Given the description of an element on the screen output the (x, y) to click on. 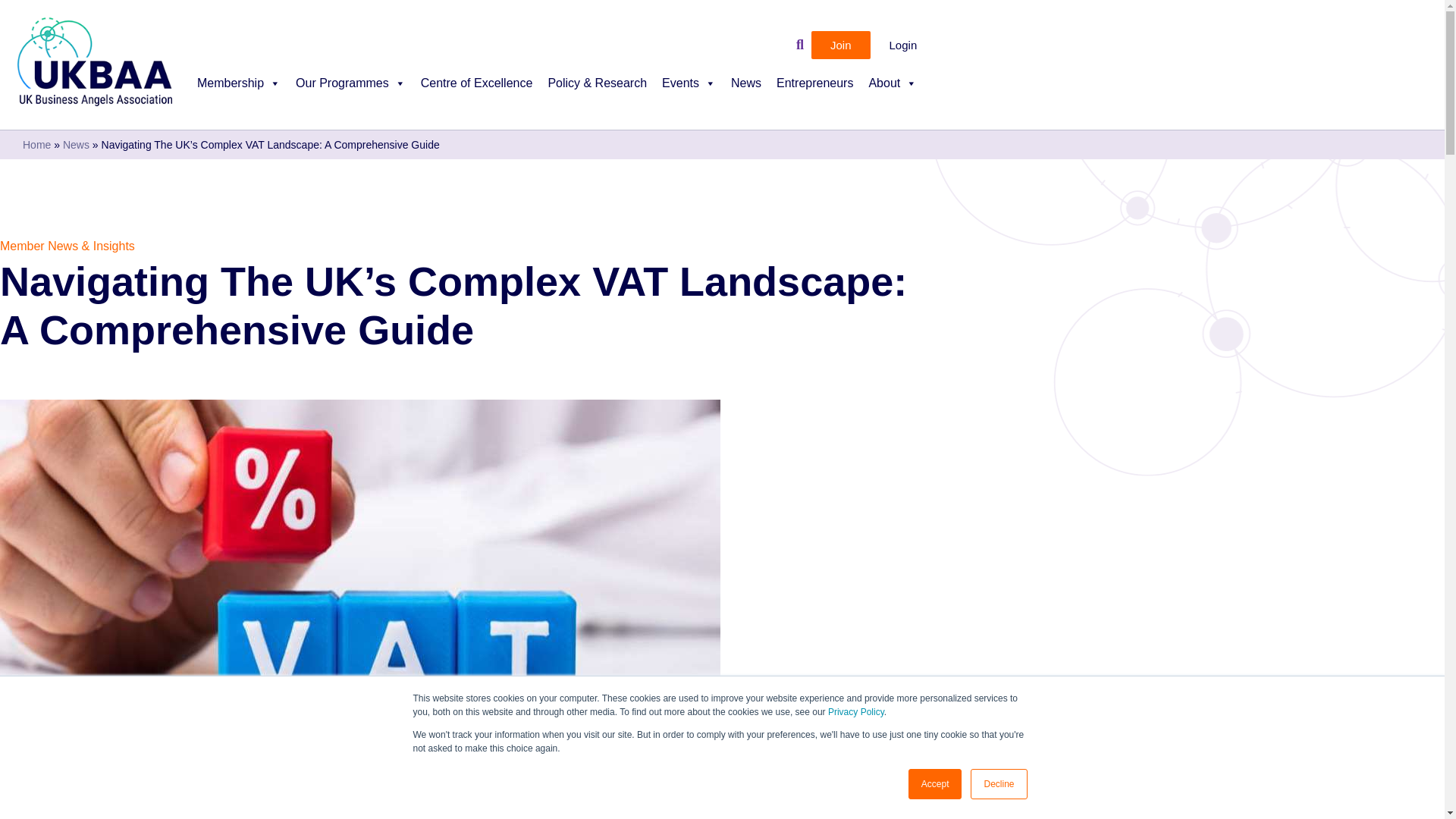
Accept (935, 784)
News (745, 90)
Our Programmes (350, 90)
Privacy Policy (855, 711)
Entrepreneurs (814, 90)
Events (688, 90)
Centre of Excellence (476, 90)
About (892, 90)
Membership (238, 90)
Decline (998, 784)
Login (903, 44)
Join (840, 44)
